Given the description of an element on the screen output the (x, y) to click on. 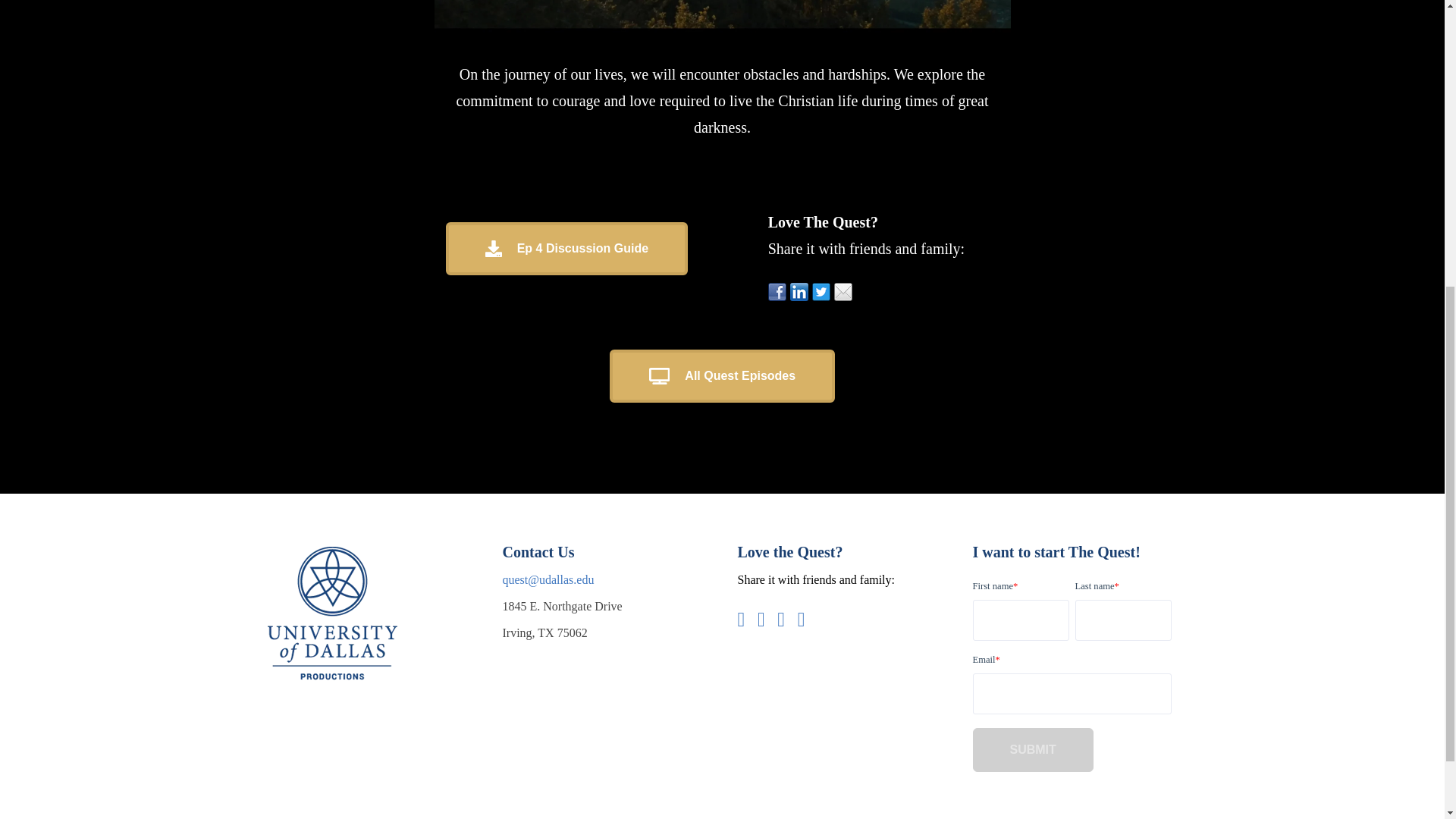
Ep 4 Discussion Guide (566, 248)
All Quest Episodes (722, 375)
SUBMIT (1032, 750)
HubSpot Video (721, 27)
SUBMIT (1032, 750)
